Given the description of an element on the screen output the (x, y) to click on. 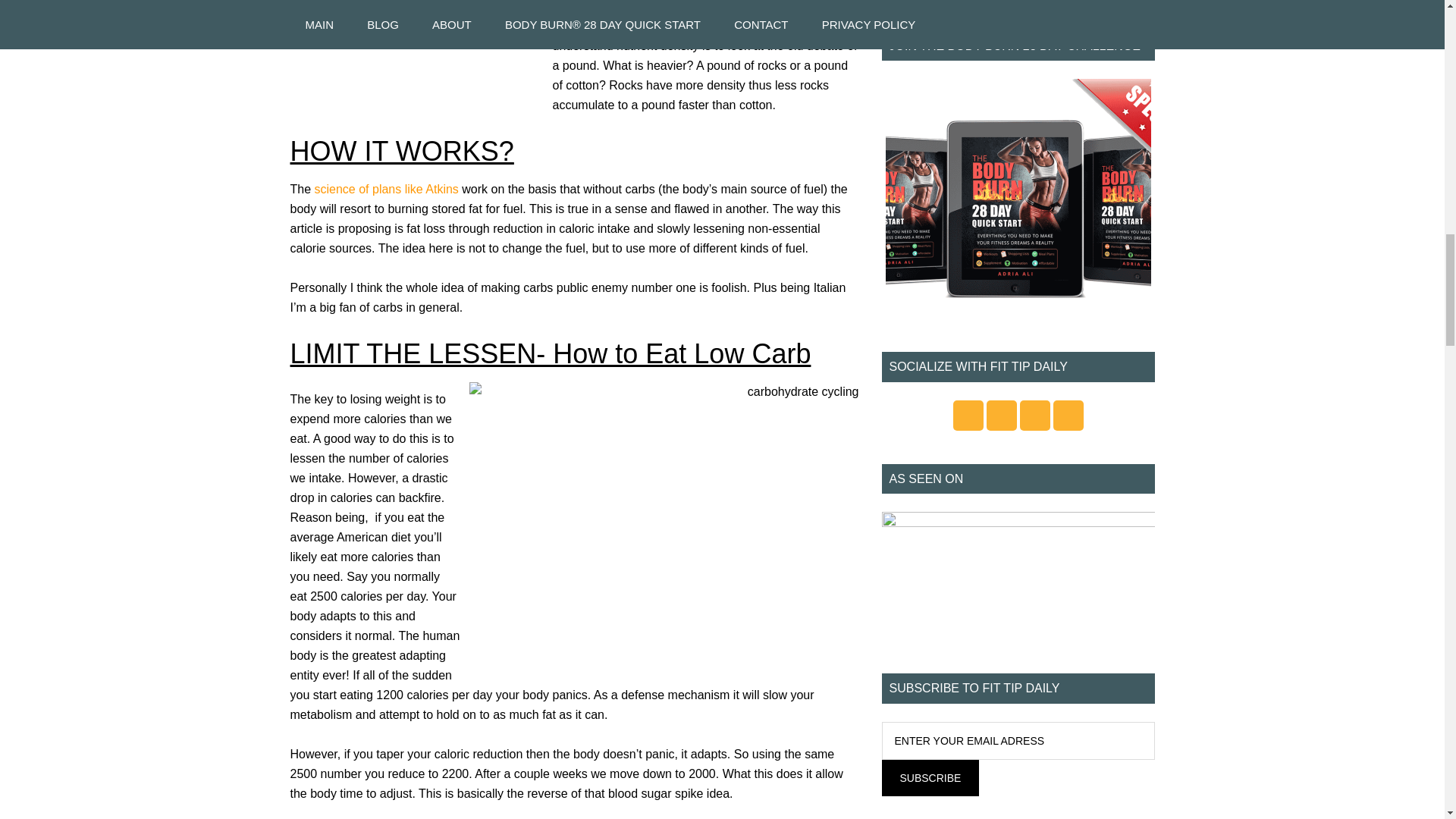
ENTER YOUR EMAIL ADRESS (1017, 740)
science of plans like Atkins (388, 188)
SUBSCRIBE (929, 778)
